Given the description of an element on the screen output the (x, y) to click on. 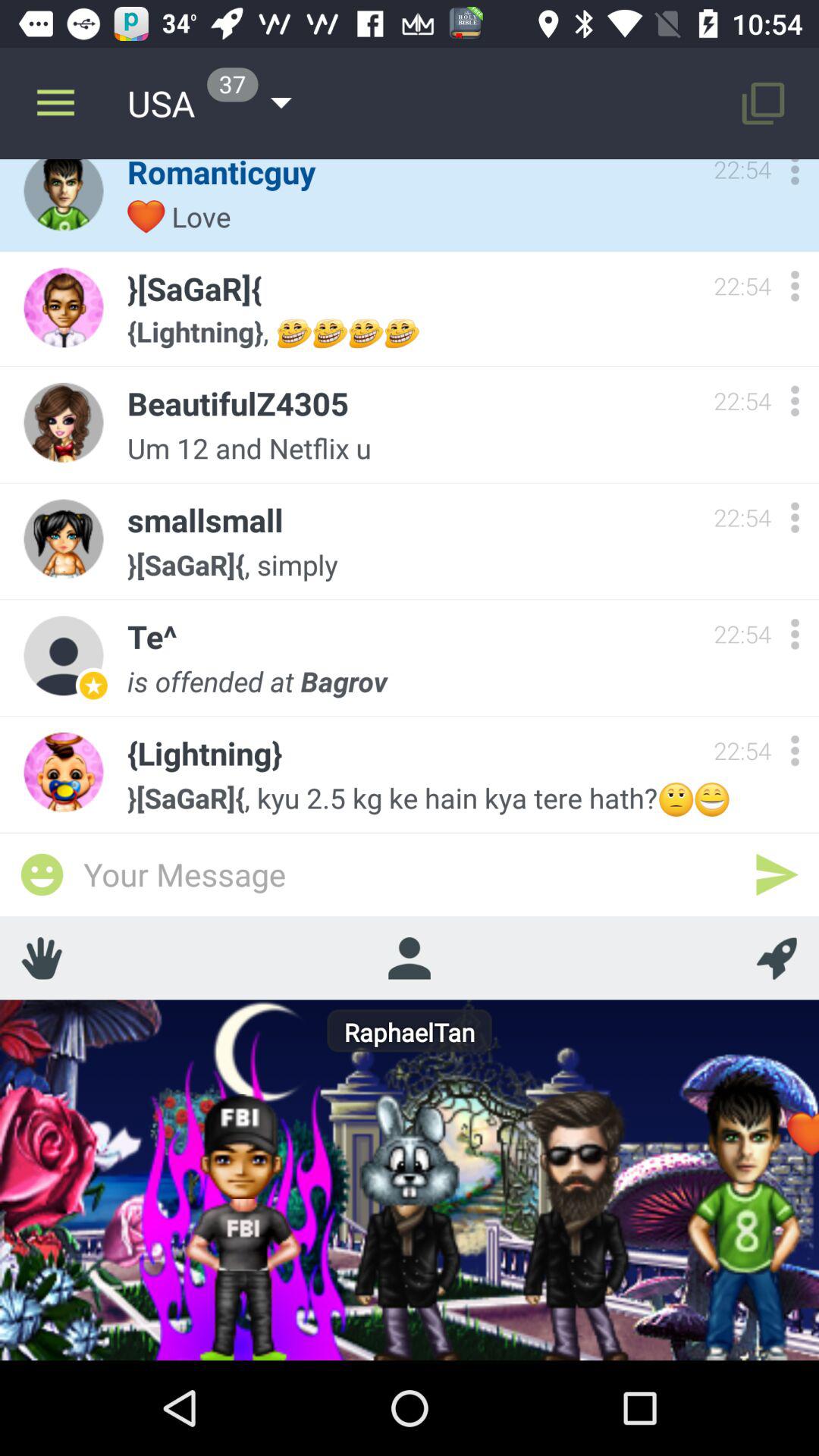
field to enter message (409, 873)
